Given the description of an element on the screen output the (x, y) to click on. 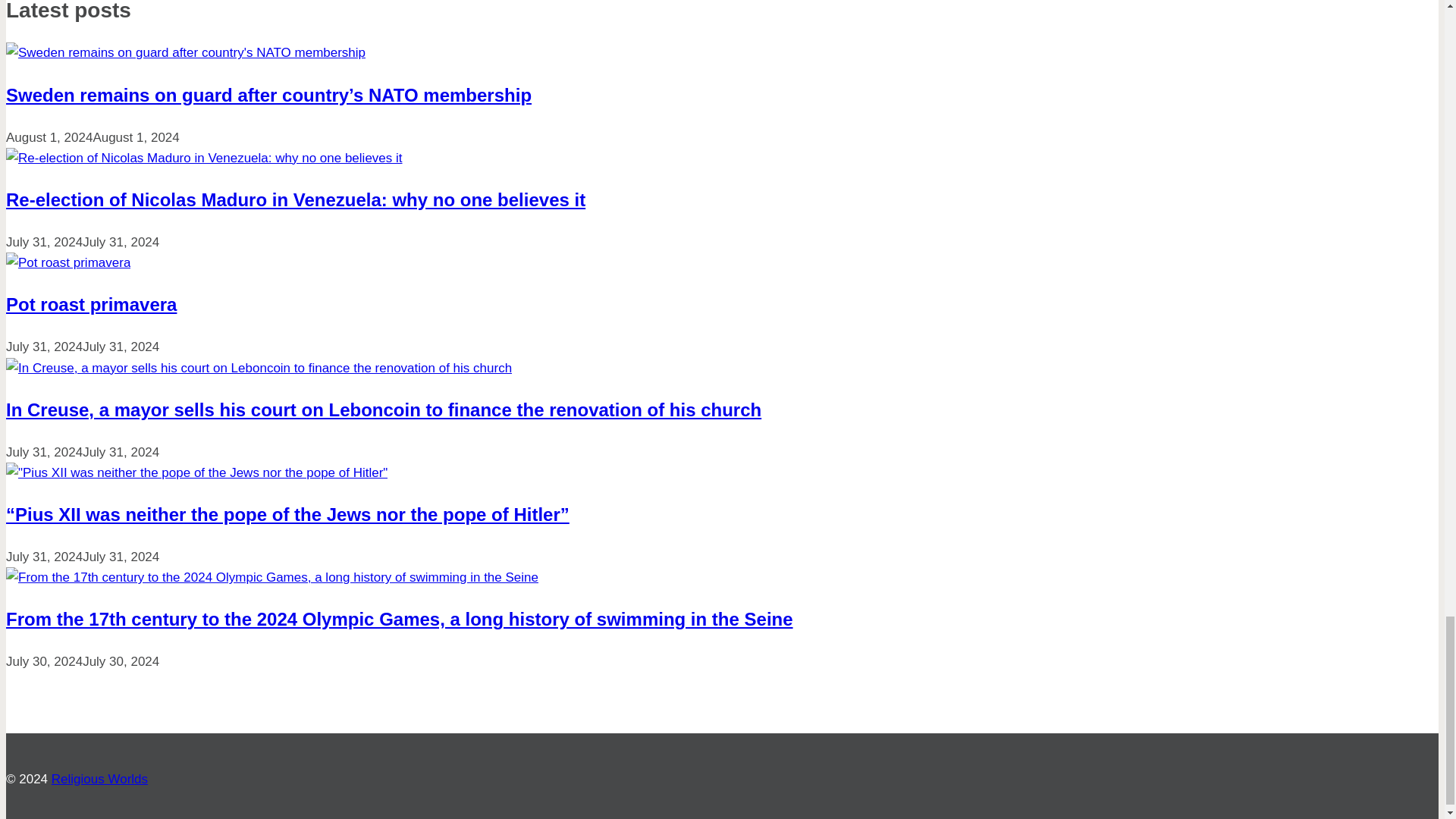
Religious Worlds (99, 779)
Pot roast primavera (90, 304)
